Given the description of an element on the screen output the (x, y) to click on. 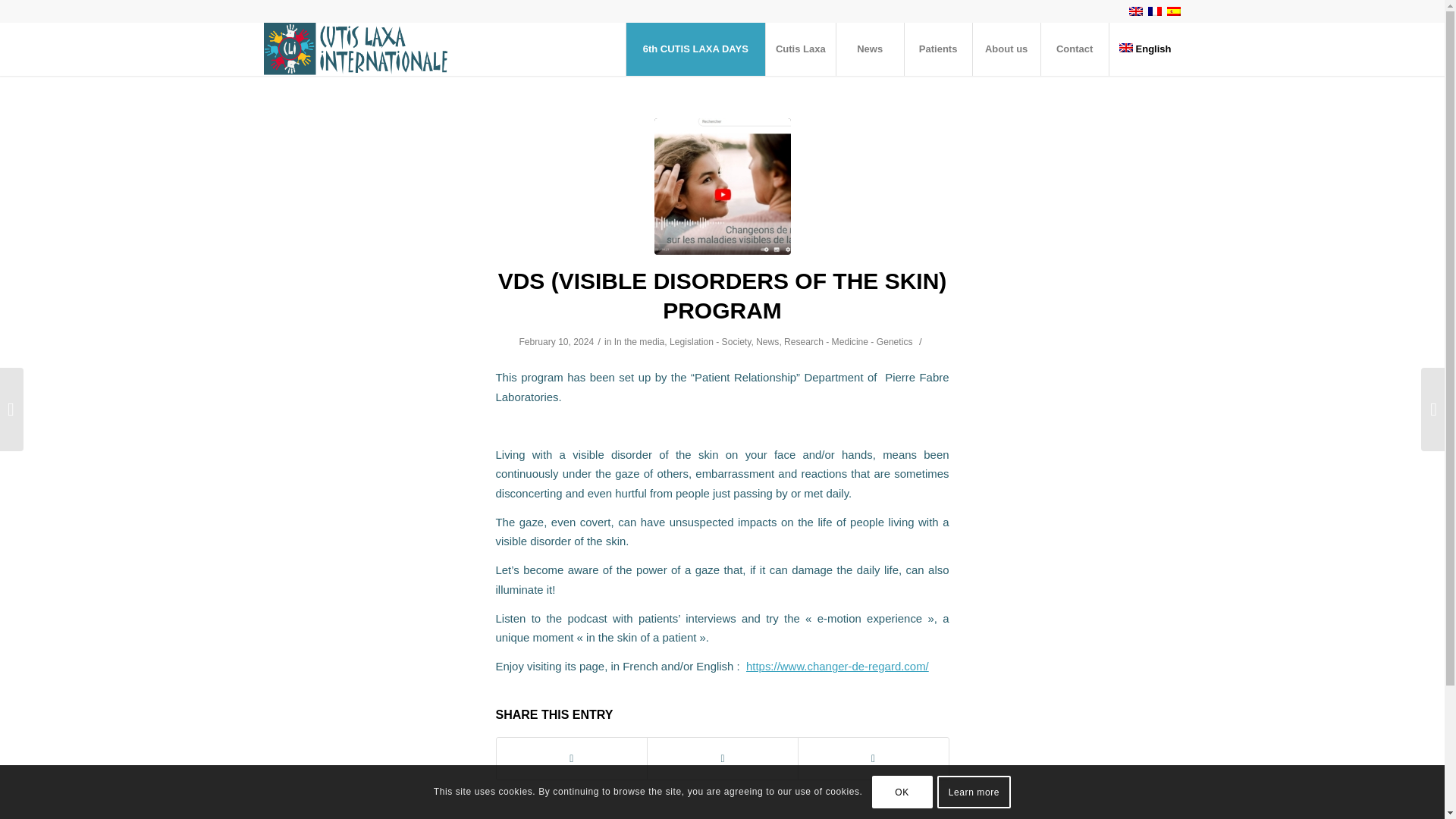
In the media (639, 341)
Legislation - Society (710, 341)
Research - Medicine - Genetics (848, 341)
Contact (1074, 49)
Podcast VDS (721, 185)
About us (1006, 49)
Patients (938, 49)
News (766, 341)
Cutis Laxa (800, 49)
6th CUTIS LAXA DAYS (695, 49)
English (1144, 49)
News (869, 49)
English (1135, 10)
English (1144, 49)
